Given the description of an element on the screen output the (x, y) to click on. 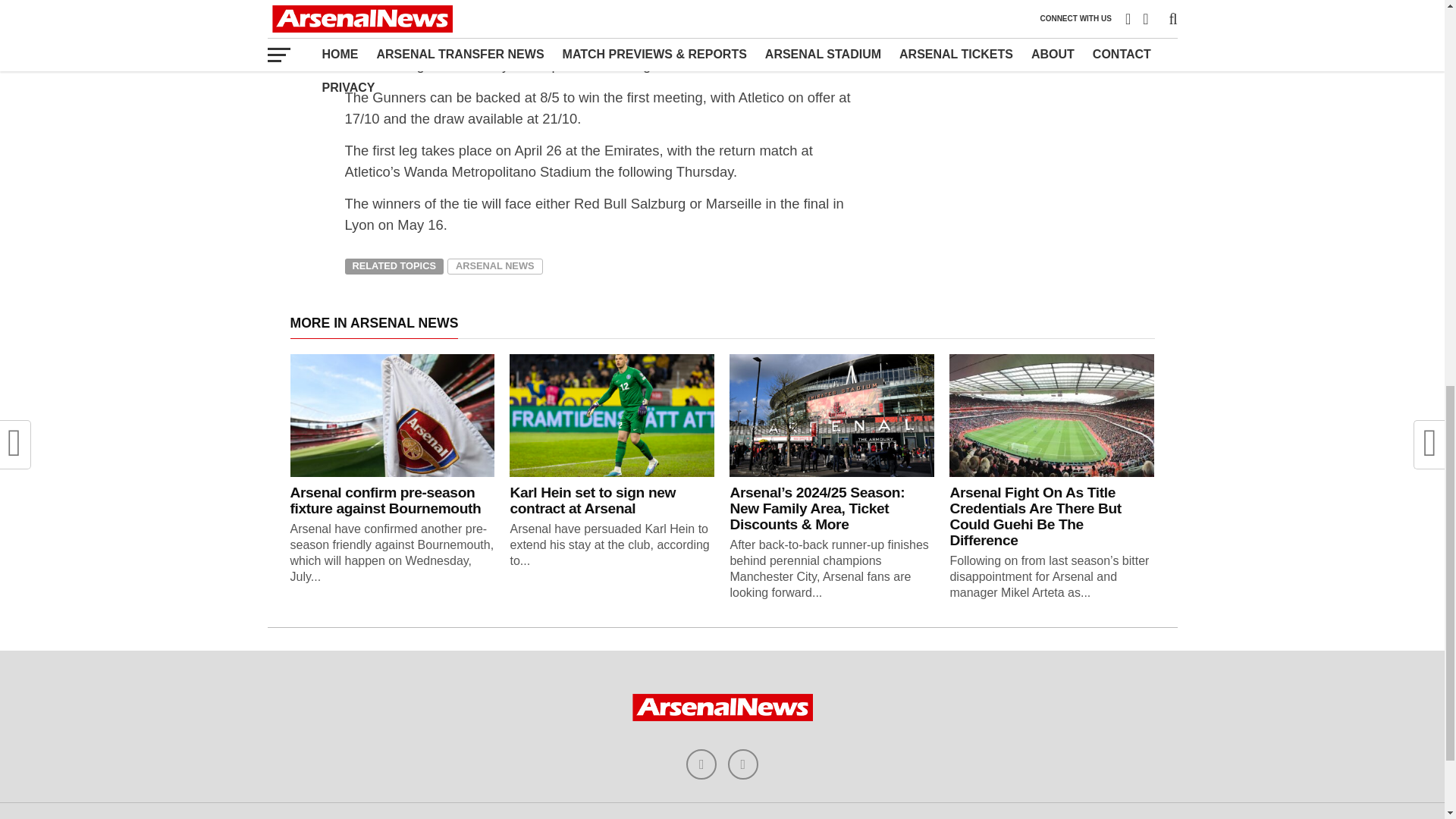
Arsenal confirm pre-season fixture against Bournemouth (384, 500)
ARSENAL NEWS (494, 266)
Karl Hein set to sign new contract at Arsenal (592, 500)
